Given the description of an element on the screen output the (x, y) to click on. 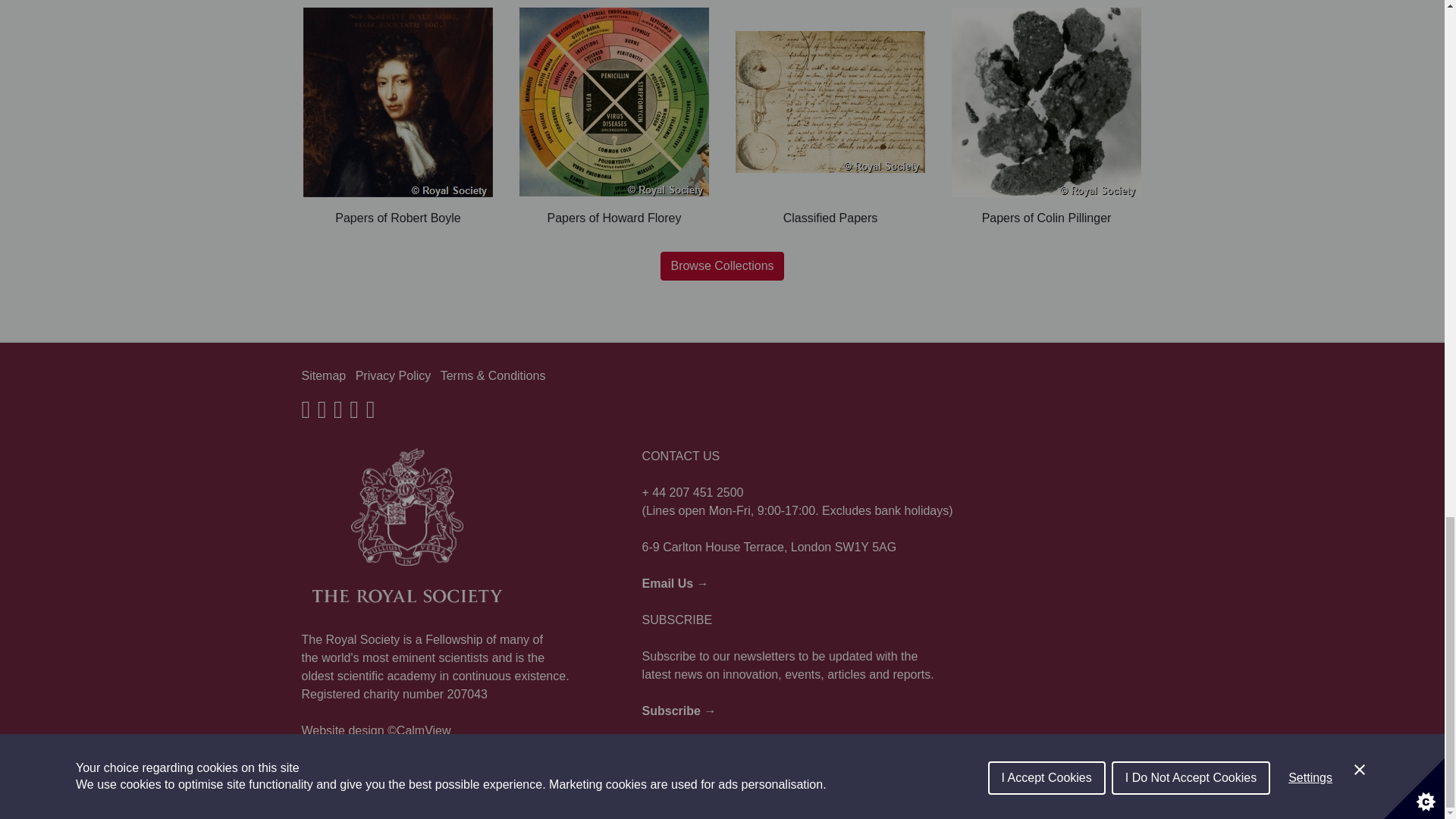
Sitemap (323, 375)
Browse Collections (722, 265)
Privacy Policy (392, 375)
